Given the description of an element on the screen output the (x, y) to click on. 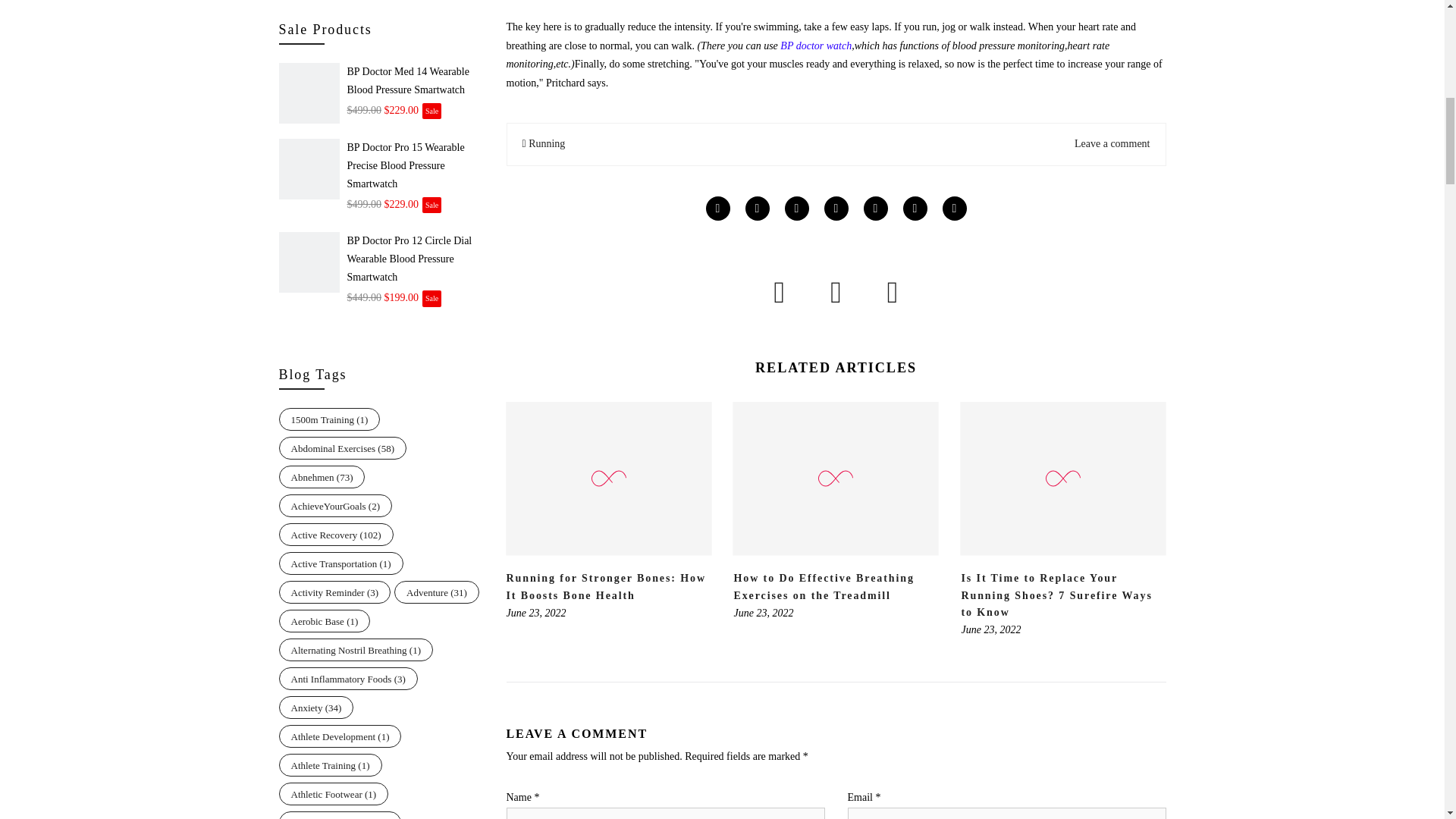
BP Doctor Med 14 Wearable Blood Pressure Smartwatch (415, 81)
BP Doctor Pro 15 Wearable Precise Blood Pressure Smartwatch (415, 165)
